Given the description of an element on the screen output the (x, y) to click on. 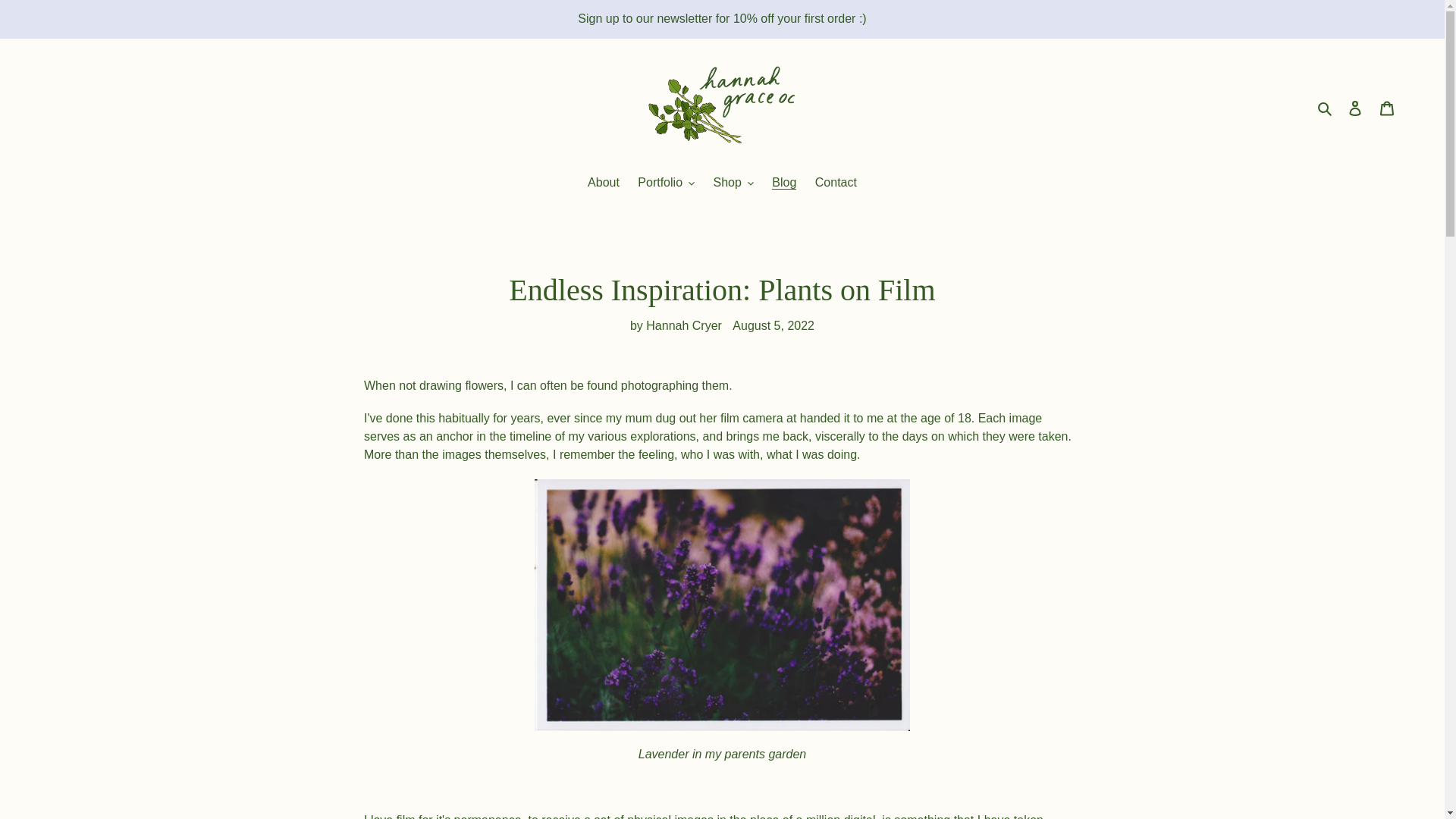
Blog (783, 183)
About (603, 183)
Shop (732, 183)
Portfolio (665, 183)
Cart (1387, 107)
Search (1326, 107)
Contact (836, 183)
Log in (1355, 107)
